Given the description of an element on the screen output the (x, y) to click on. 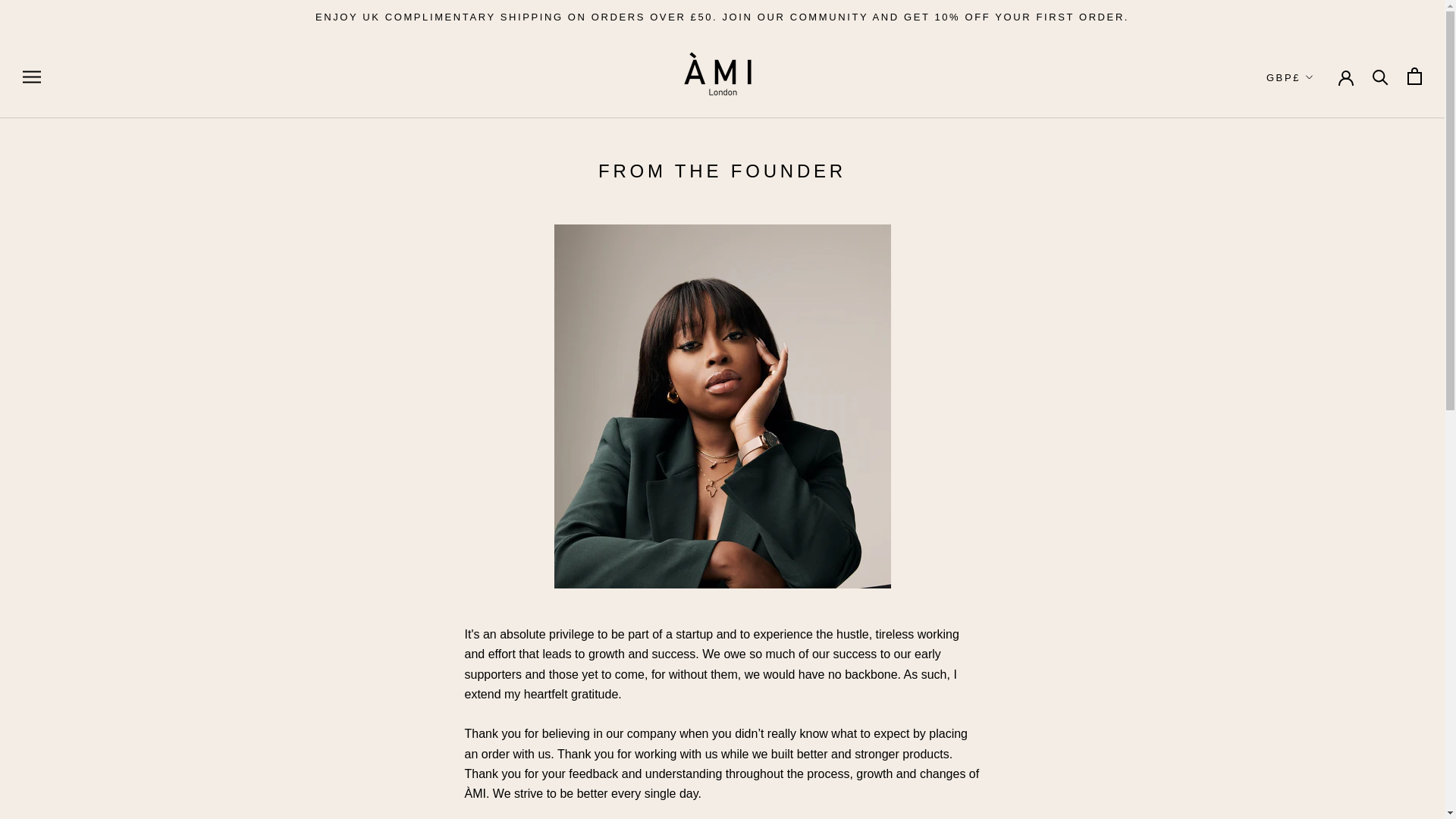
AZN (1320, 231)
AED (1320, 112)
BAM (1320, 255)
AUD (1320, 208)
BGN (1320, 303)
ALL (1320, 159)
AFN (1320, 136)
AMD (1320, 183)
BDT (1320, 279)
